Given the description of an element on the screen output the (x, y) to click on. 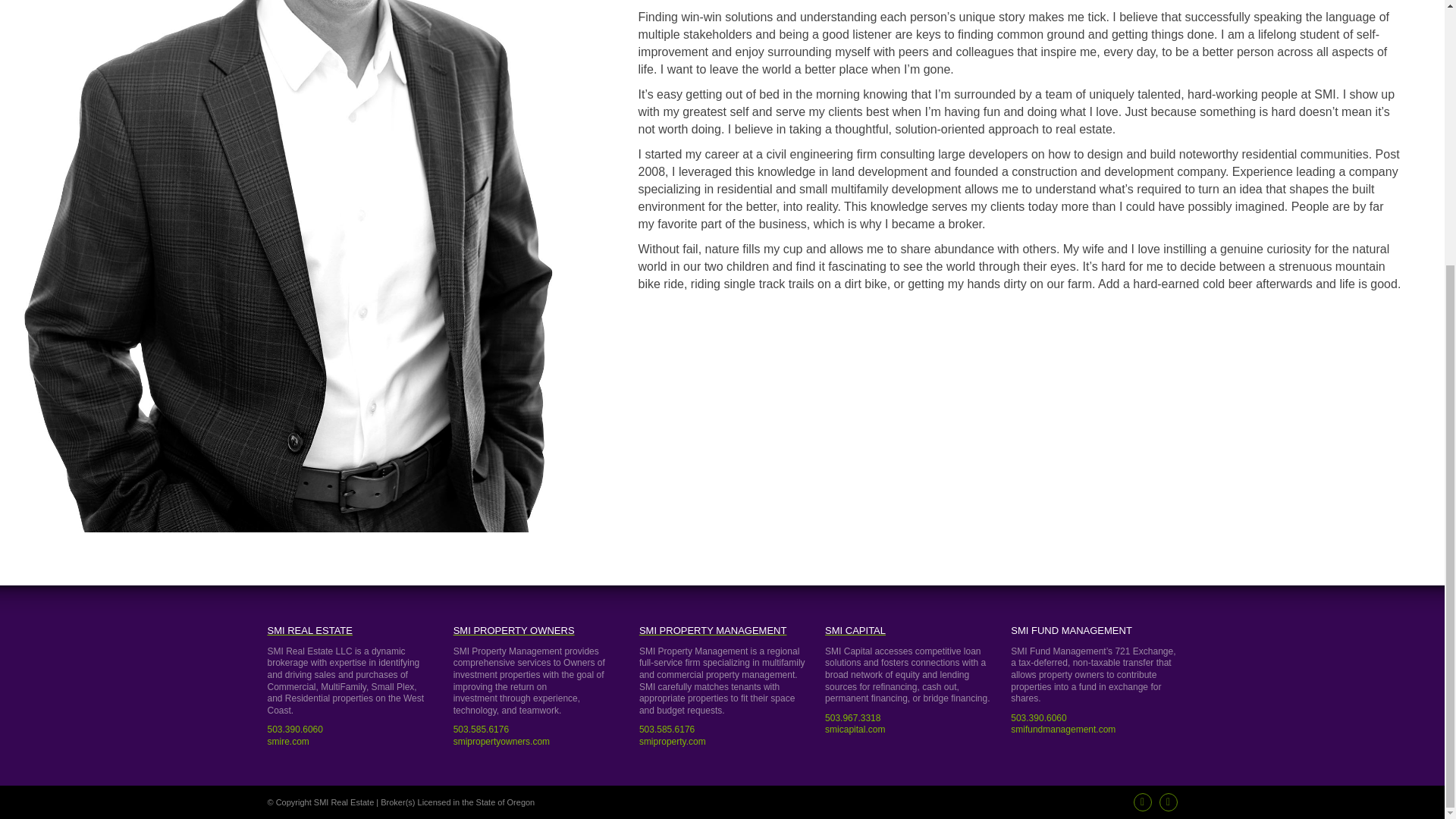
Facebook (1141, 802)
SMI REAL ESTATE (349, 630)
Linkedin (1167, 802)
